Given the description of an element on the screen output the (x, y) to click on. 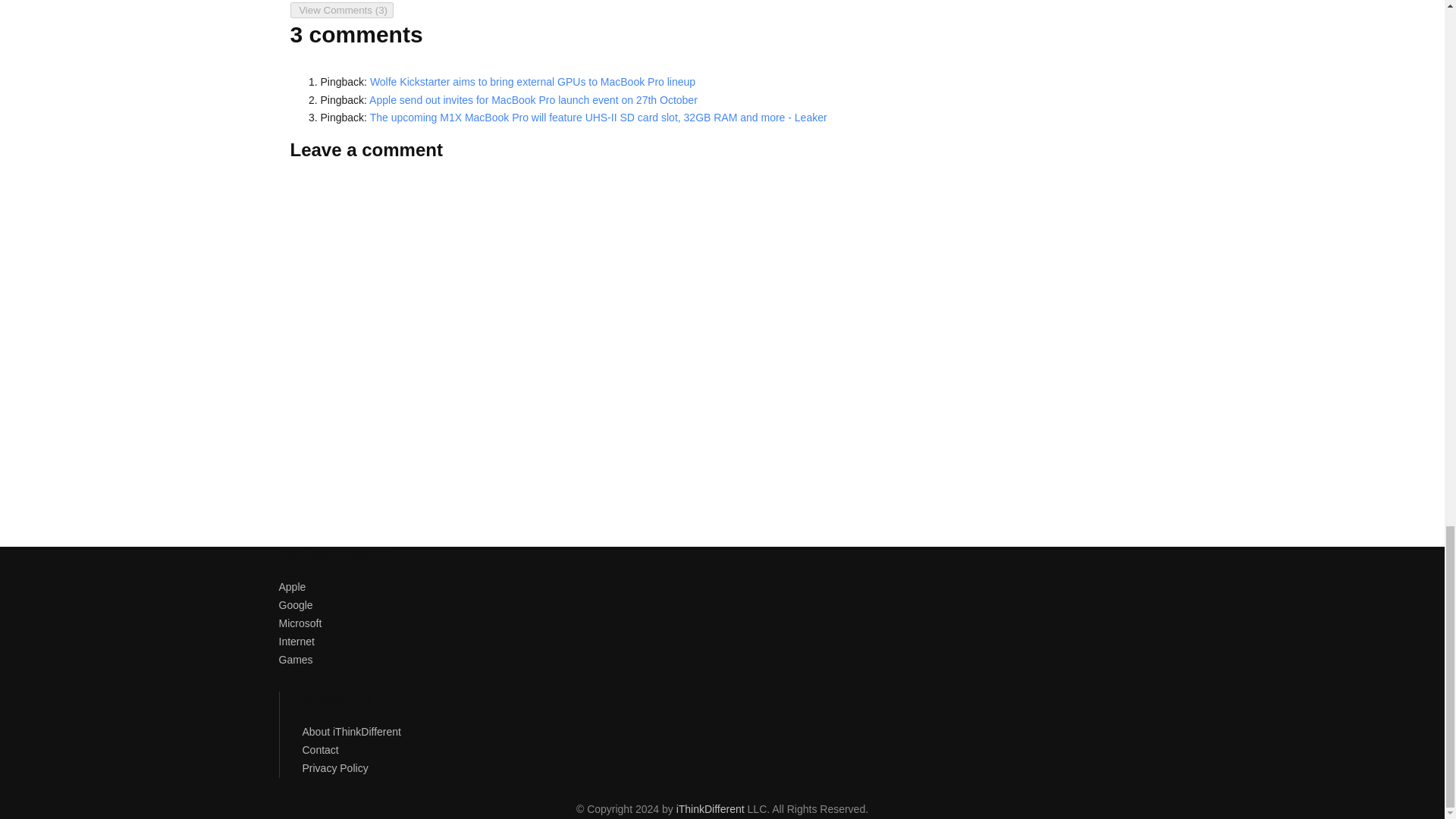
Send me an email! (403, 0)
Follow me on Facebook (336, 0)
Follow me on Twitter (303, 0)
